Given the description of an element on the screen output the (x, y) to click on. 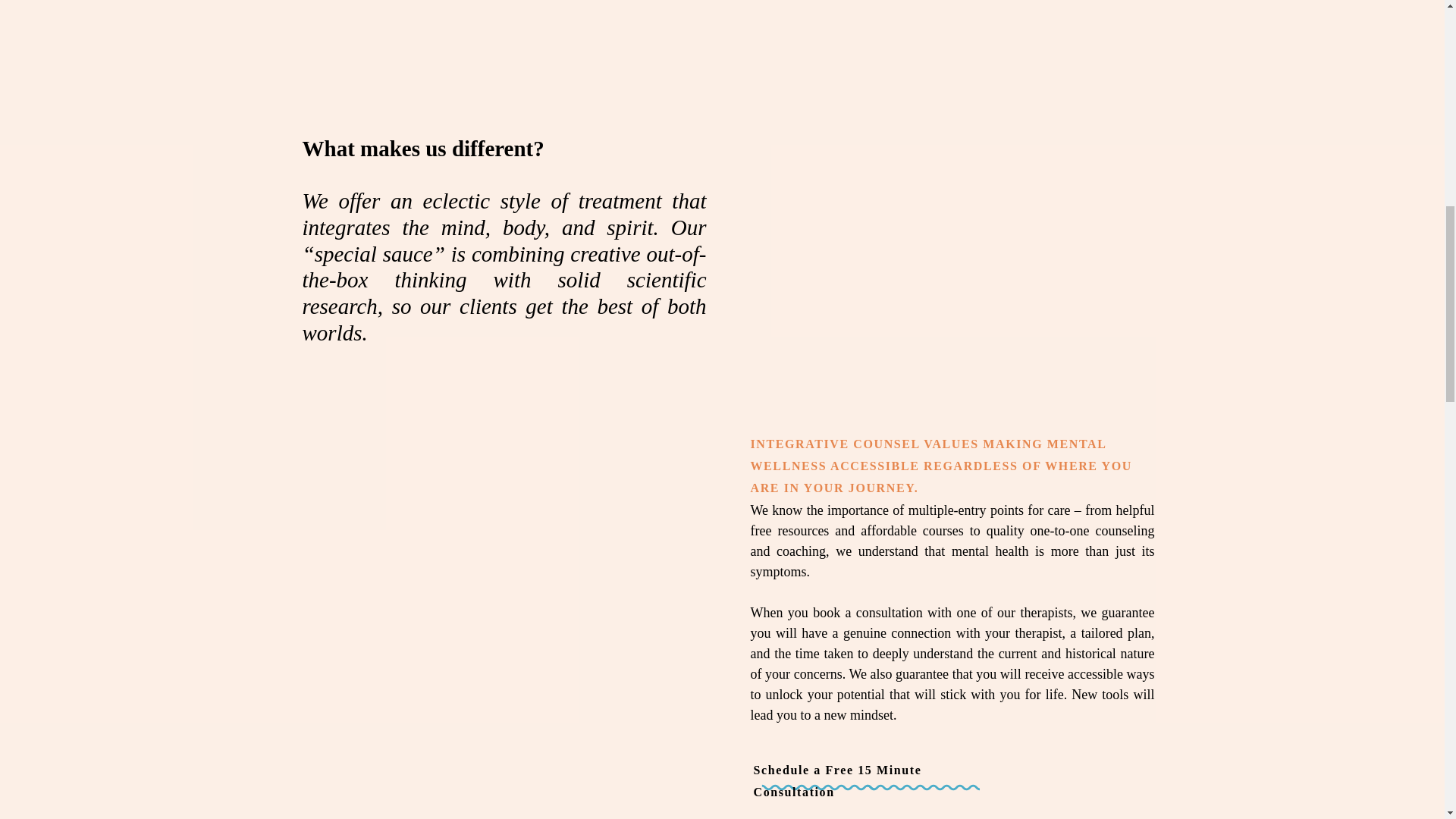
Schedule a Free 15 Minute Consultation (871, 770)
